Given the description of an element on the screen output the (x, y) to click on. 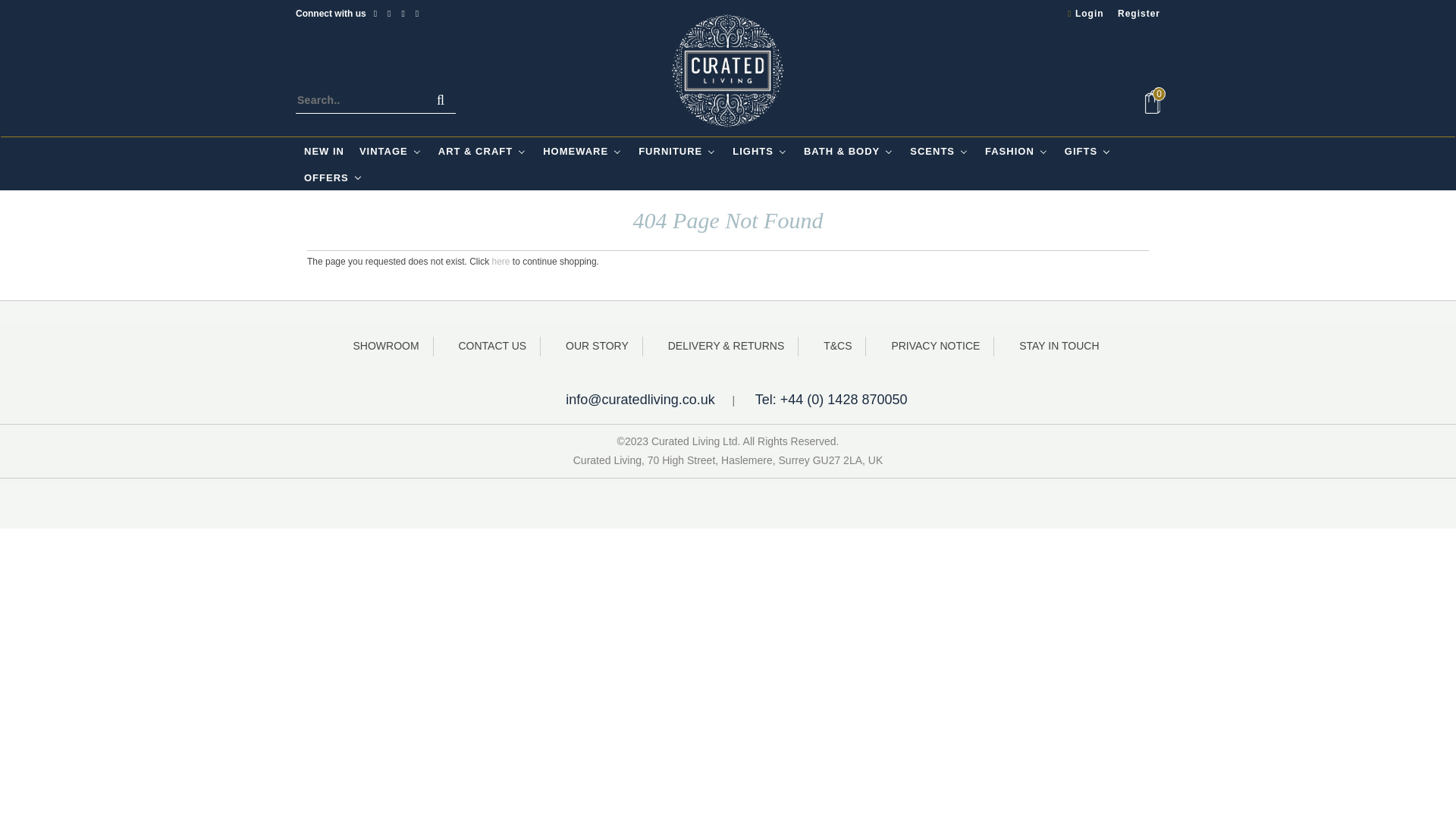
HOMEWARE (582, 151)
NEW IN (322, 151)
VINTAGE (389, 151)
Login (1080, 13)
0 (1152, 101)
Register (1133, 13)
